Given the description of an element on the screen output the (x, y) to click on. 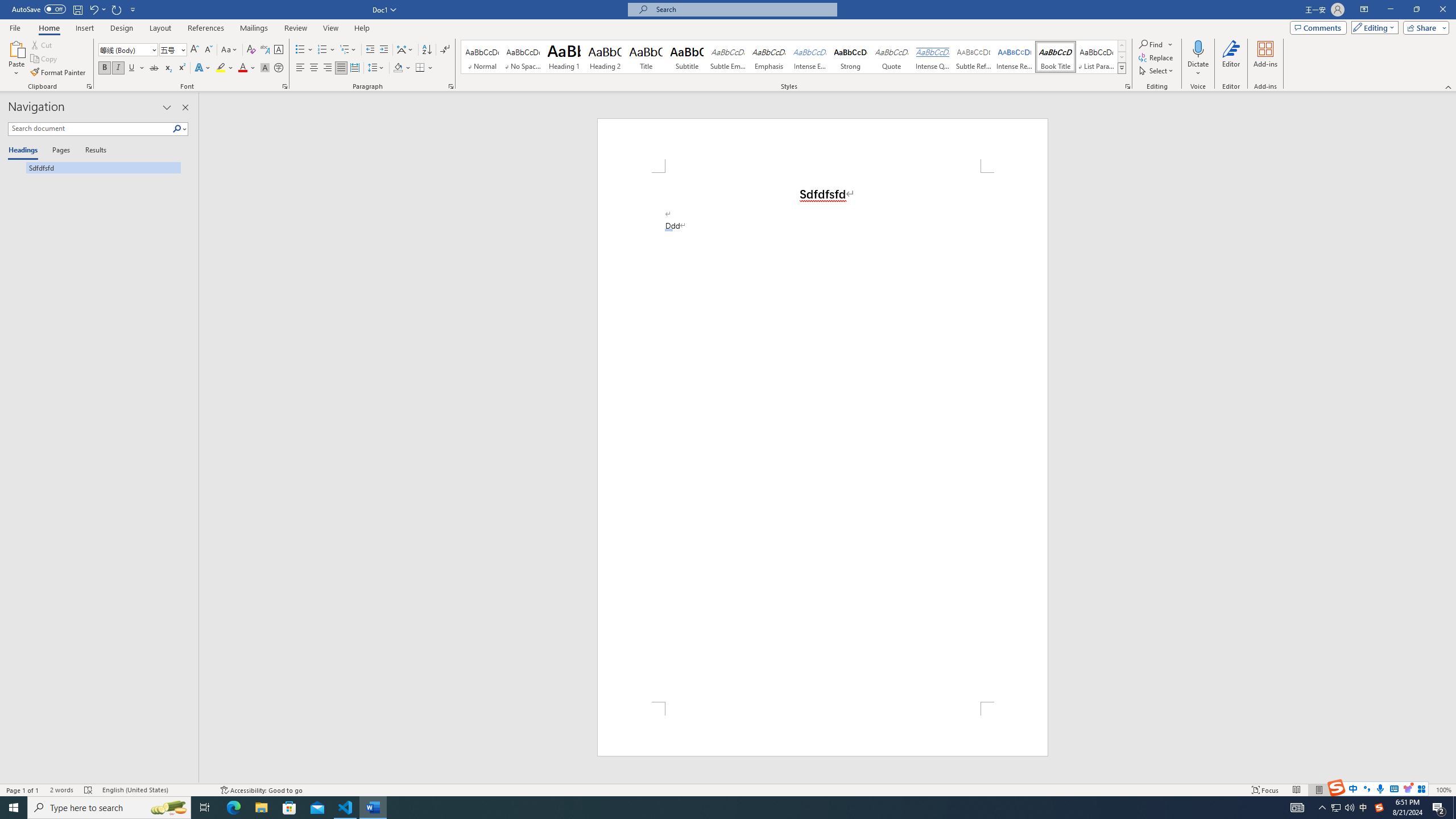
Save (77, 9)
Cut (42, 44)
Text Effects and Typography (202, 67)
Copy (45, 58)
Page Number Page 1 of 1 (22, 790)
References (205, 28)
Shrink Font (208, 49)
Line and Paragraph Spacing (376, 67)
Help (361, 28)
Intense Quote (932, 56)
Dictate (1197, 58)
Class: NetUIScrollBar (1450, 437)
Heading 1 (564, 56)
Spelling and Grammar Check Errors (88, 790)
